Given the description of an element on the screen output the (x, y) to click on. 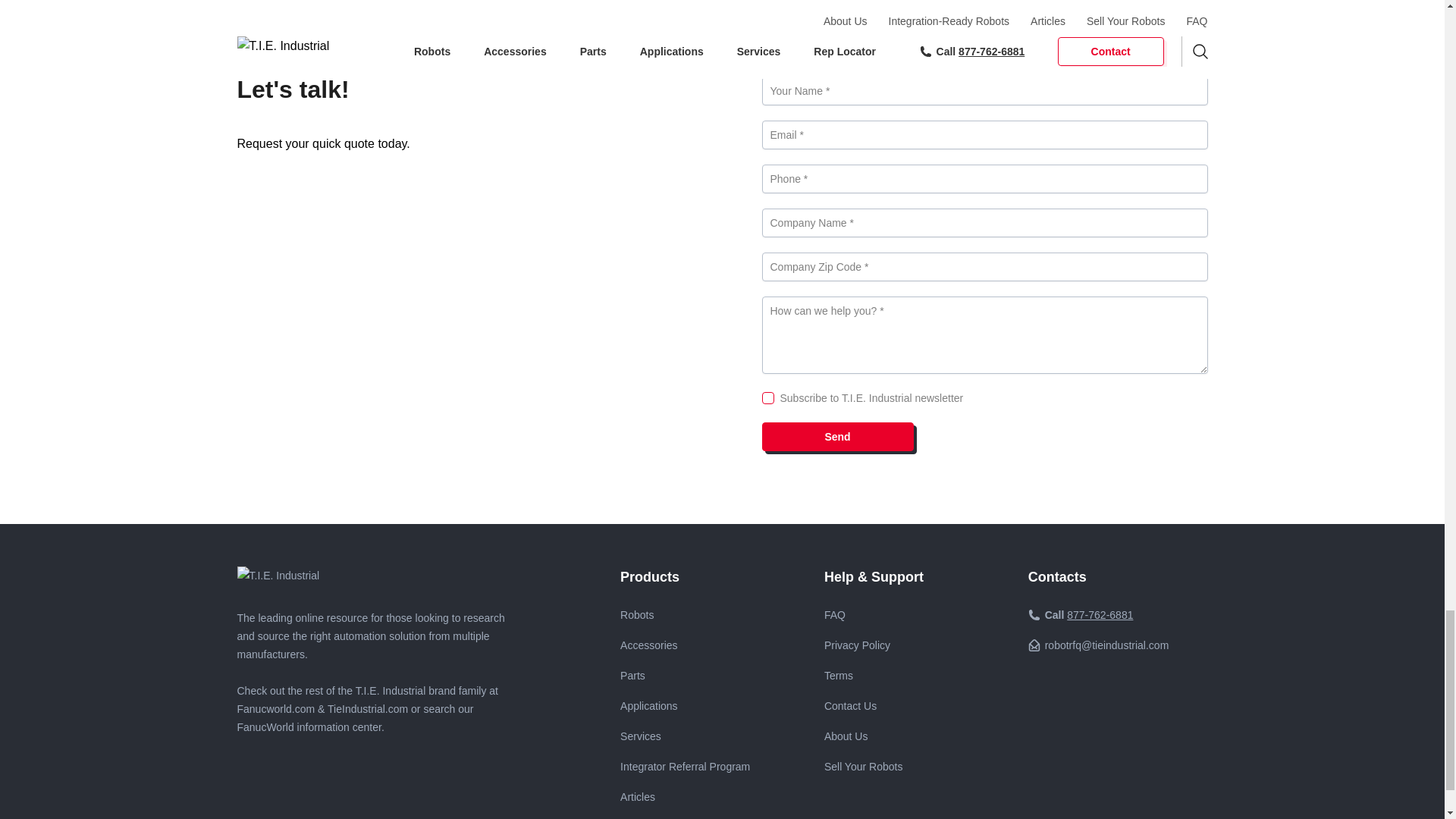
Yes (767, 398)
